Given the description of an element on the screen output the (x, y) to click on. 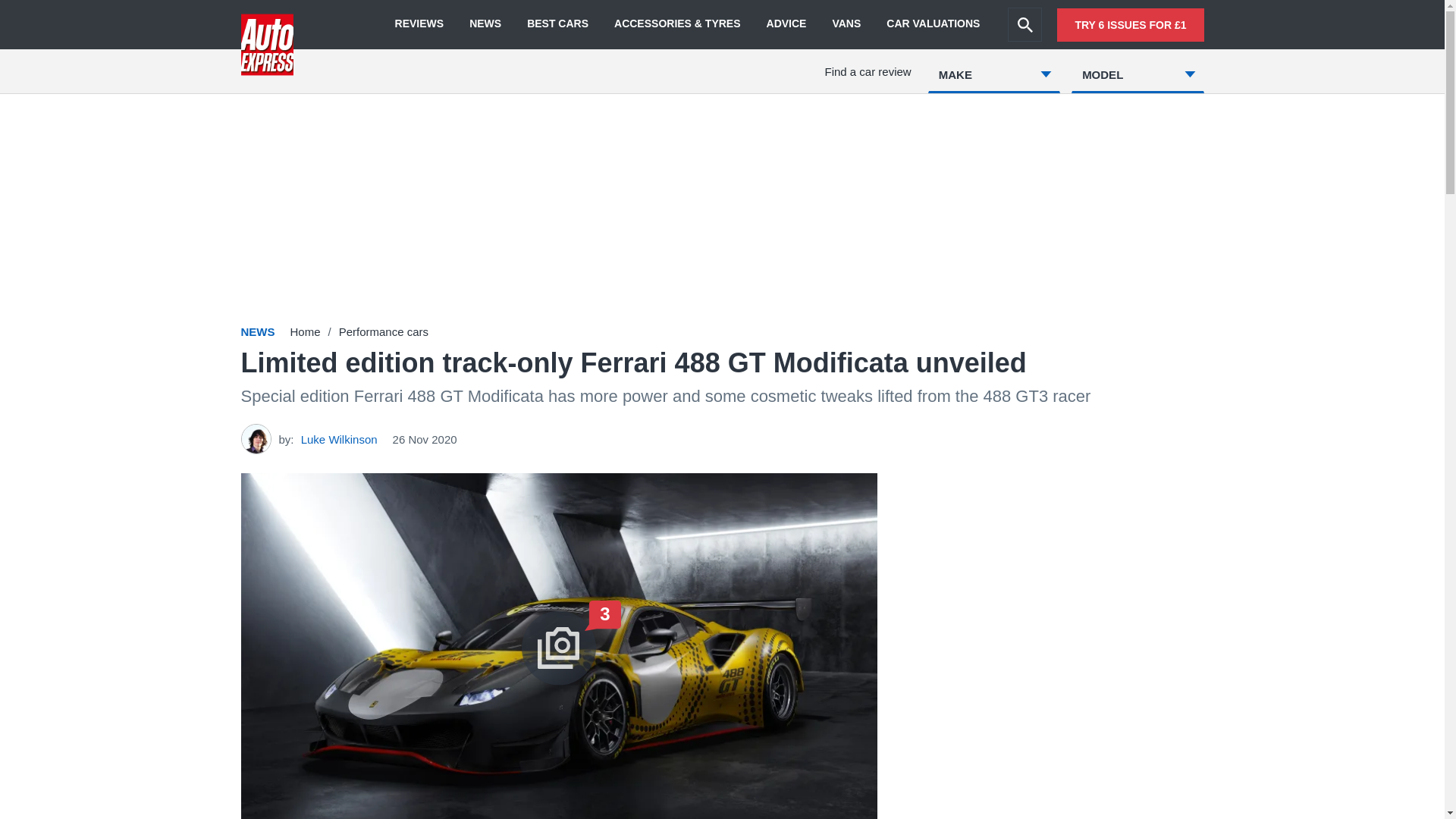
Search (1024, 24)
ADVICE (786, 24)
CAR VALUATIONS (932, 24)
Search (1024, 24)
BEST CARS (557, 24)
NEWS (485, 24)
REVIEWS (419, 24)
VANS (845, 24)
